Given the description of an element on the screen output the (x, y) to click on. 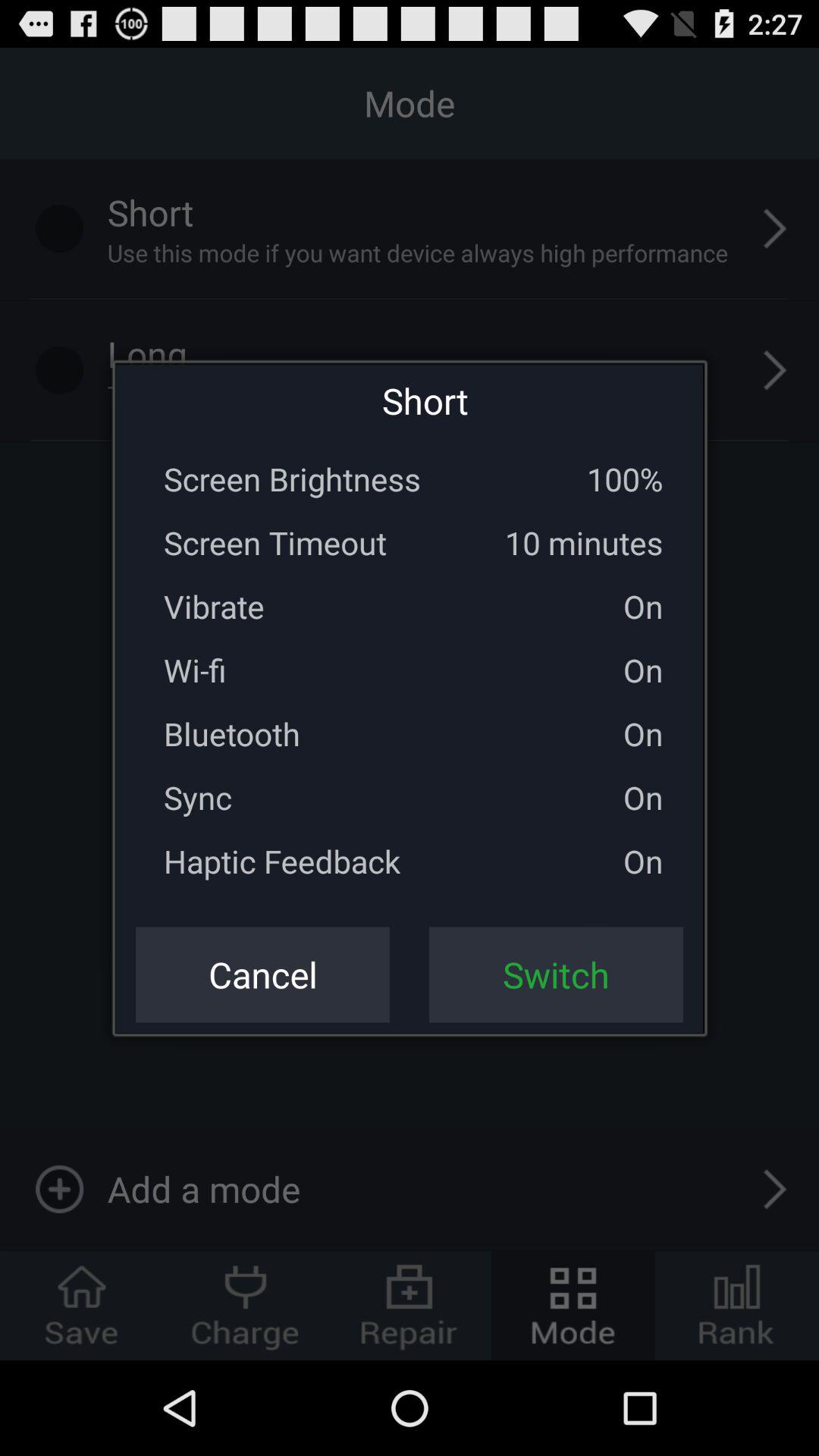
launch the app below the haptic feedback (262, 974)
